Given the description of an element on the screen output the (x, y) to click on. 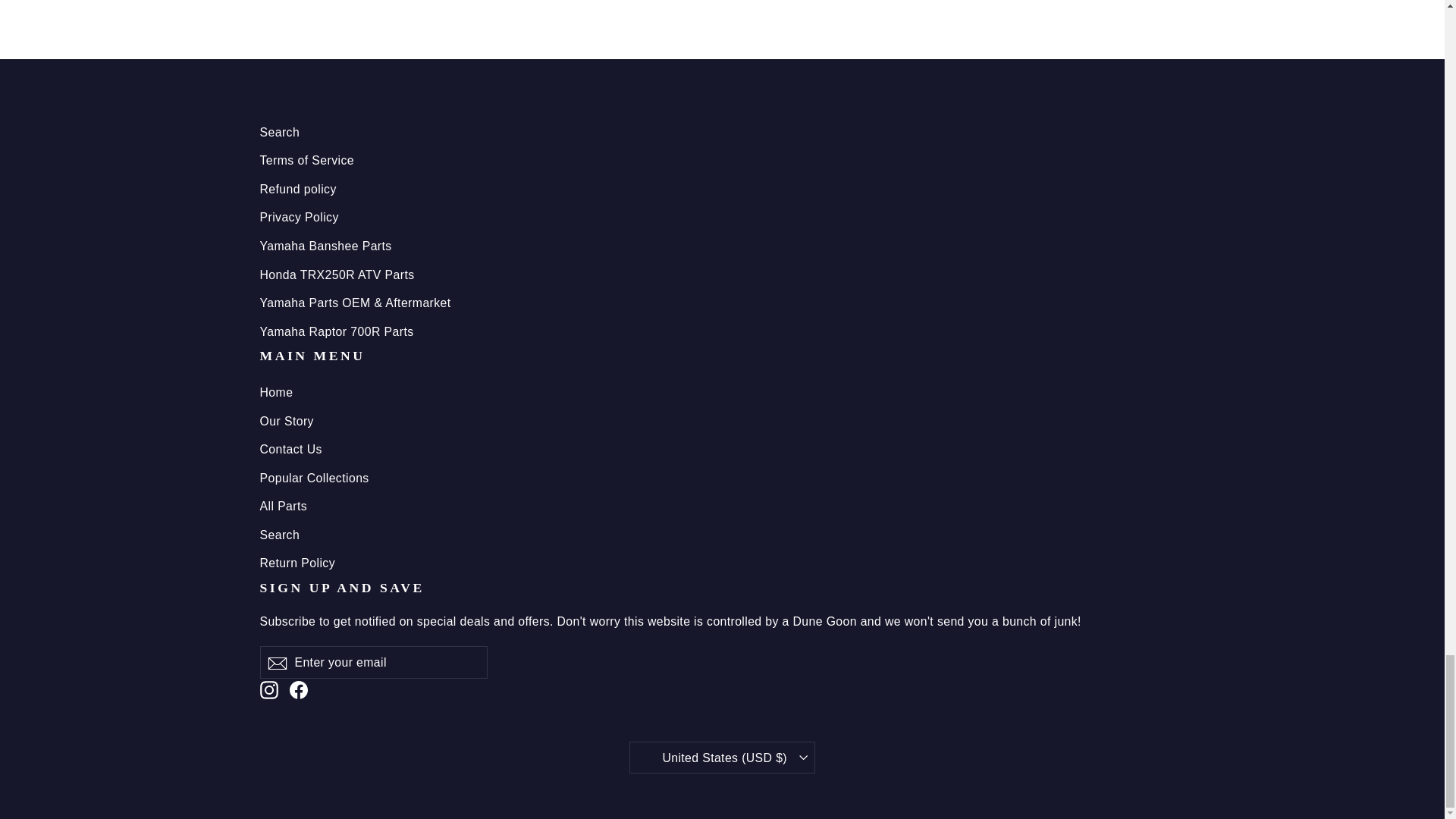
Dune Goons on Facebook (298, 688)
